Given the description of an element on the screen output the (x, y) to click on. 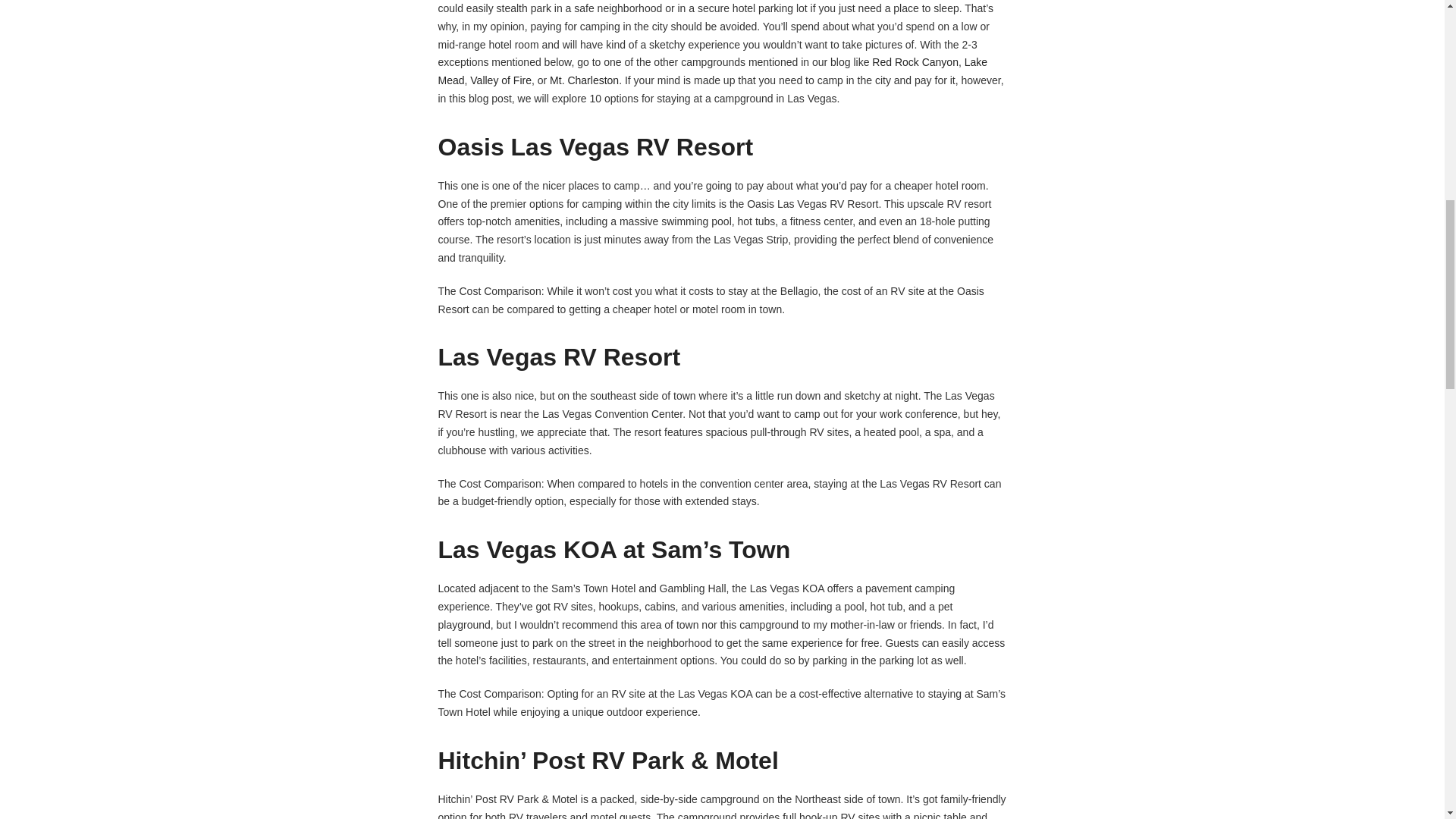
Las Vegas RV Resort (559, 357)
Mt. Charleston (584, 80)
Lake Mead (713, 71)
Canyon (939, 61)
Red Rock (896, 61)
Valley of Fire (500, 80)
Oasis Las Vegas RV Resort (596, 146)
